Given the description of an element on the screen output the (x, y) to click on. 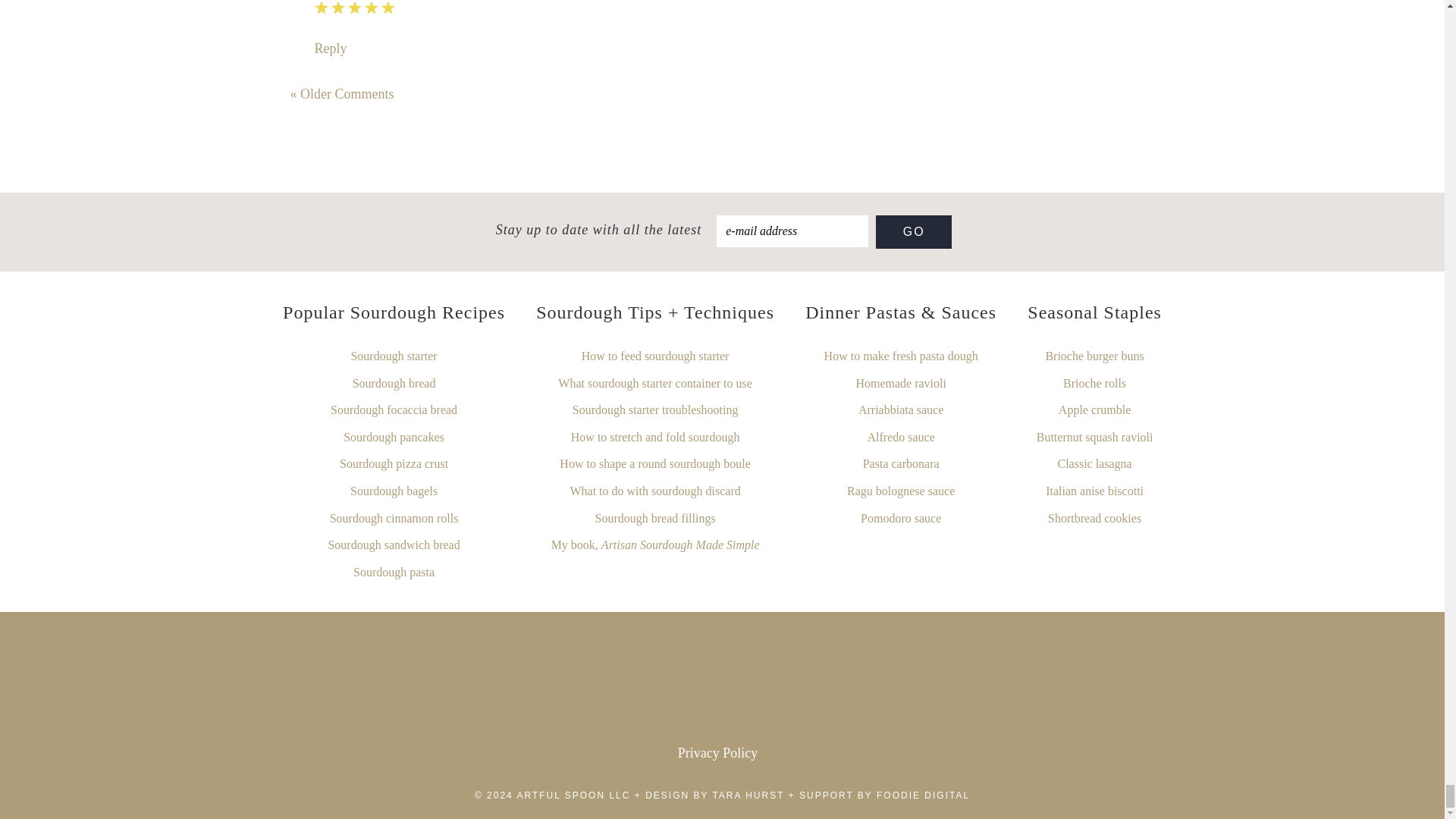
Go (914, 231)
